Given the description of an element on the screen output the (x, y) to click on. 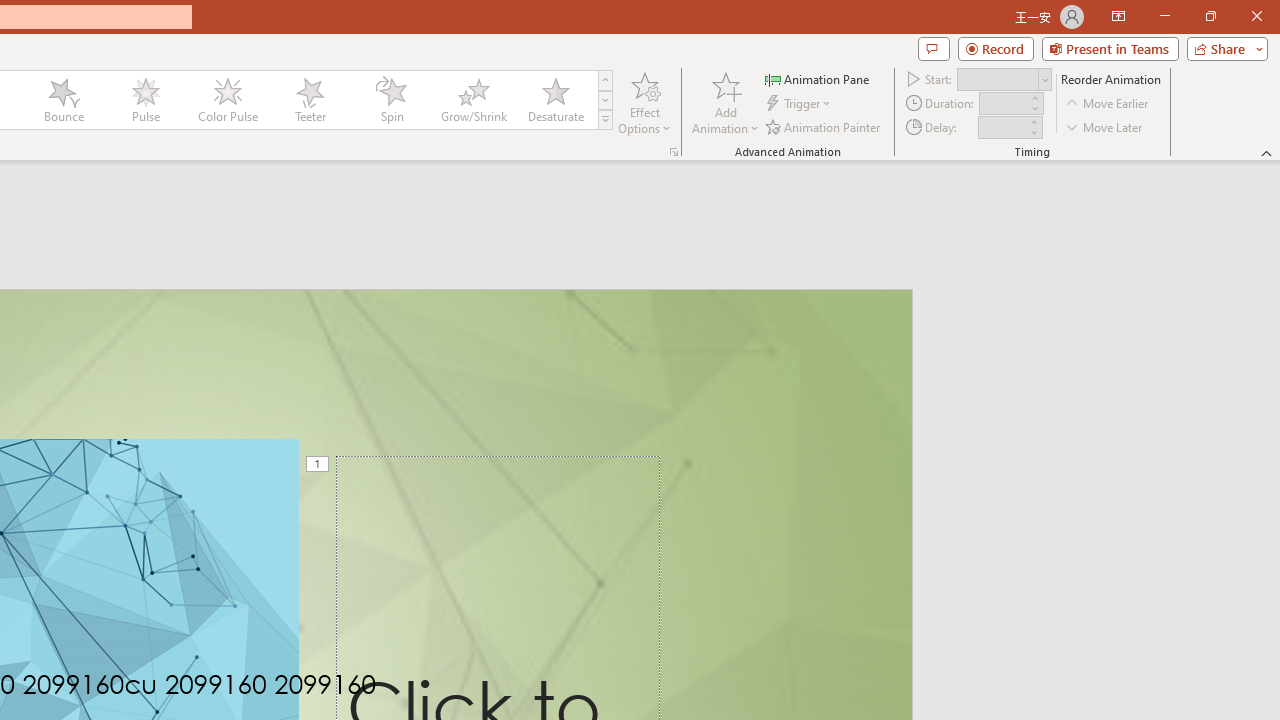
Move Later (1105, 126)
Color Pulse (227, 100)
More Options... (673, 151)
Bounce (63, 100)
Teeter (309, 100)
Animation Delay (1002, 127)
Move Earlier (1107, 103)
Effect Options (644, 102)
